Given the description of an element on the screen output the (x, y) to click on. 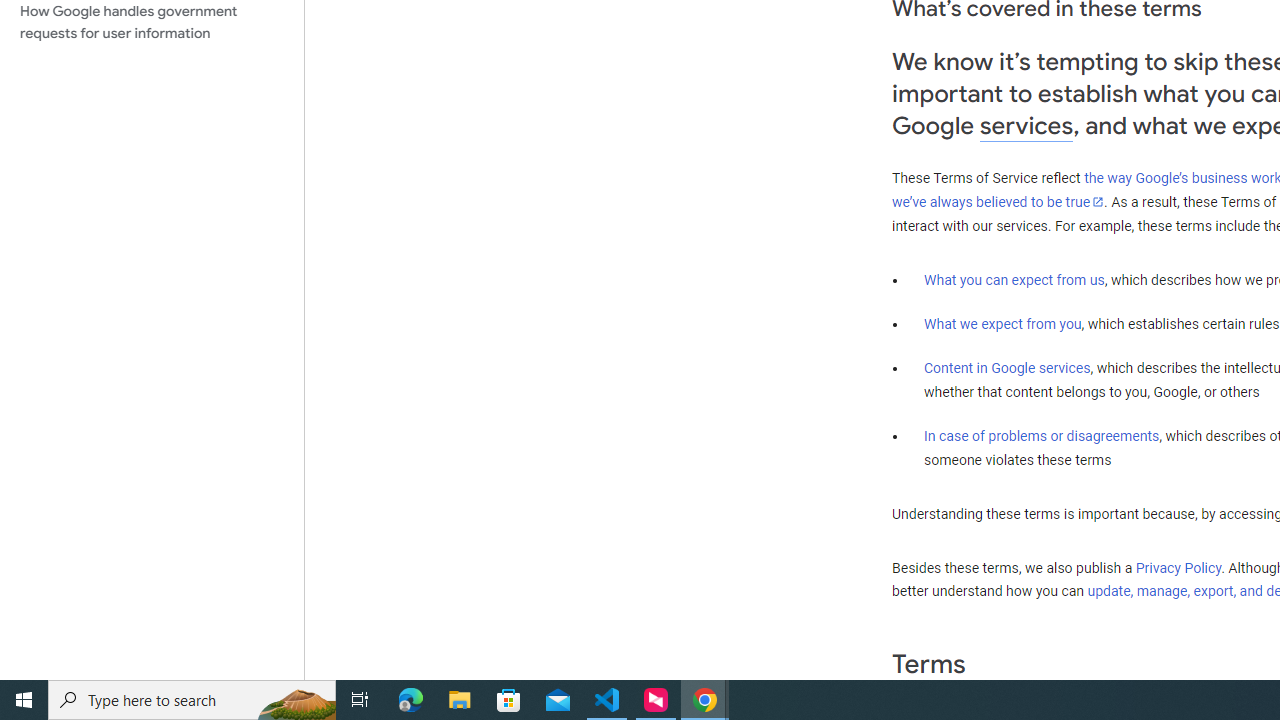
Privacy Policy (1178, 567)
Content in Google services (1007, 368)
services (1026, 125)
What we expect from you (1002, 323)
What you can expect from us (1014, 279)
In case of problems or disagreements (1041, 435)
